Given the description of an element on the screen output the (x, y) to click on. 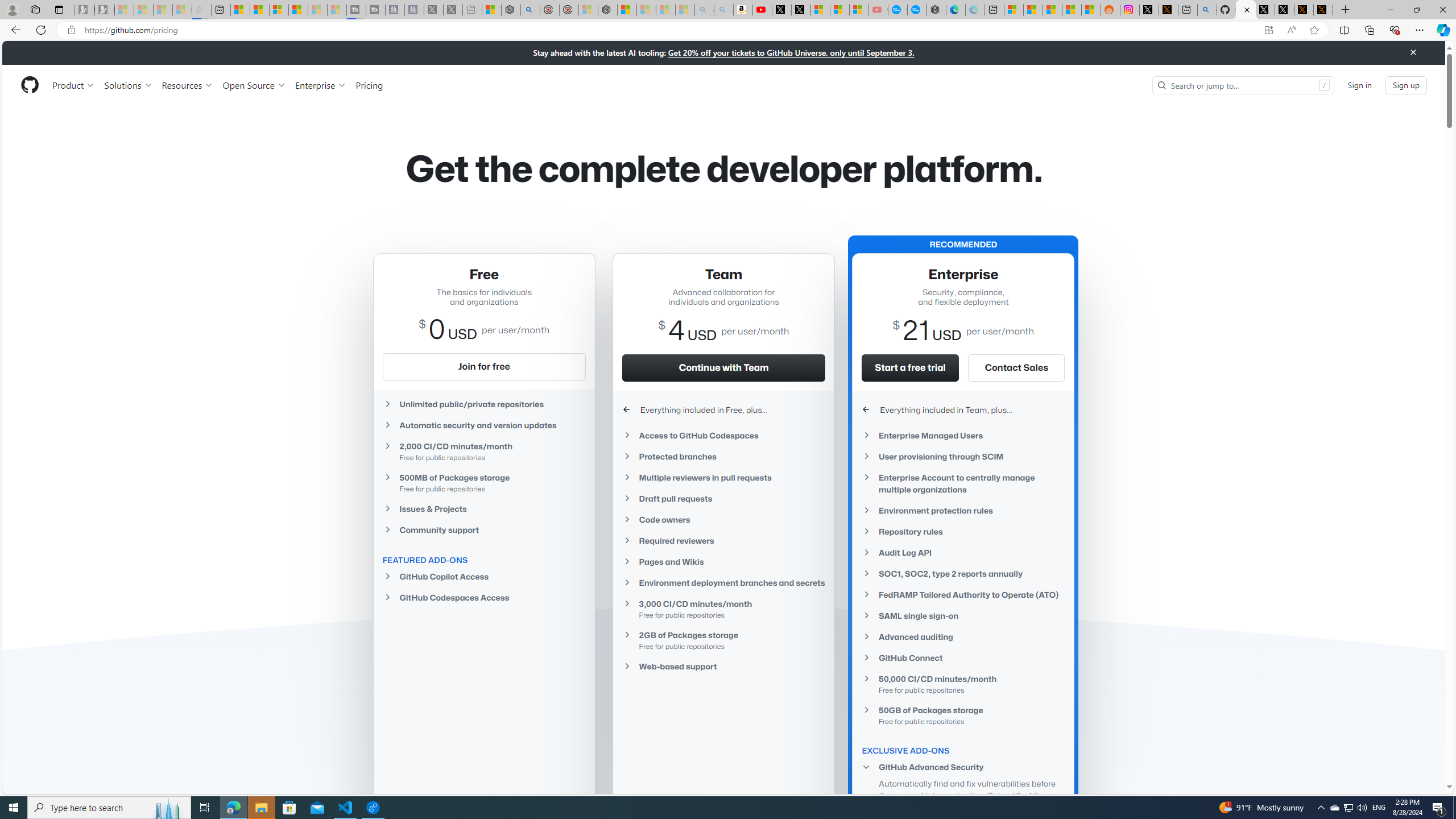
Shanghai, China hourly forecast | Microsoft Weather (1052, 9)
Pricing (368, 84)
50GB of Packages storage Free for public repositories (963, 715)
Community support (483, 529)
2,000 CI/CD minutes/monthFree for public repositories (483, 450)
Code owners (723, 519)
Resources (187, 84)
Advanced auditing (963, 636)
User provisioning through SCIM (963, 456)
Enterprise Managed Users (963, 435)
50,000 CI/CD minutes/monthFree for public repositories (963, 683)
Repository rules (963, 531)
Open Source (254, 84)
